Given the description of an element on the screen output the (x, y) to click on. 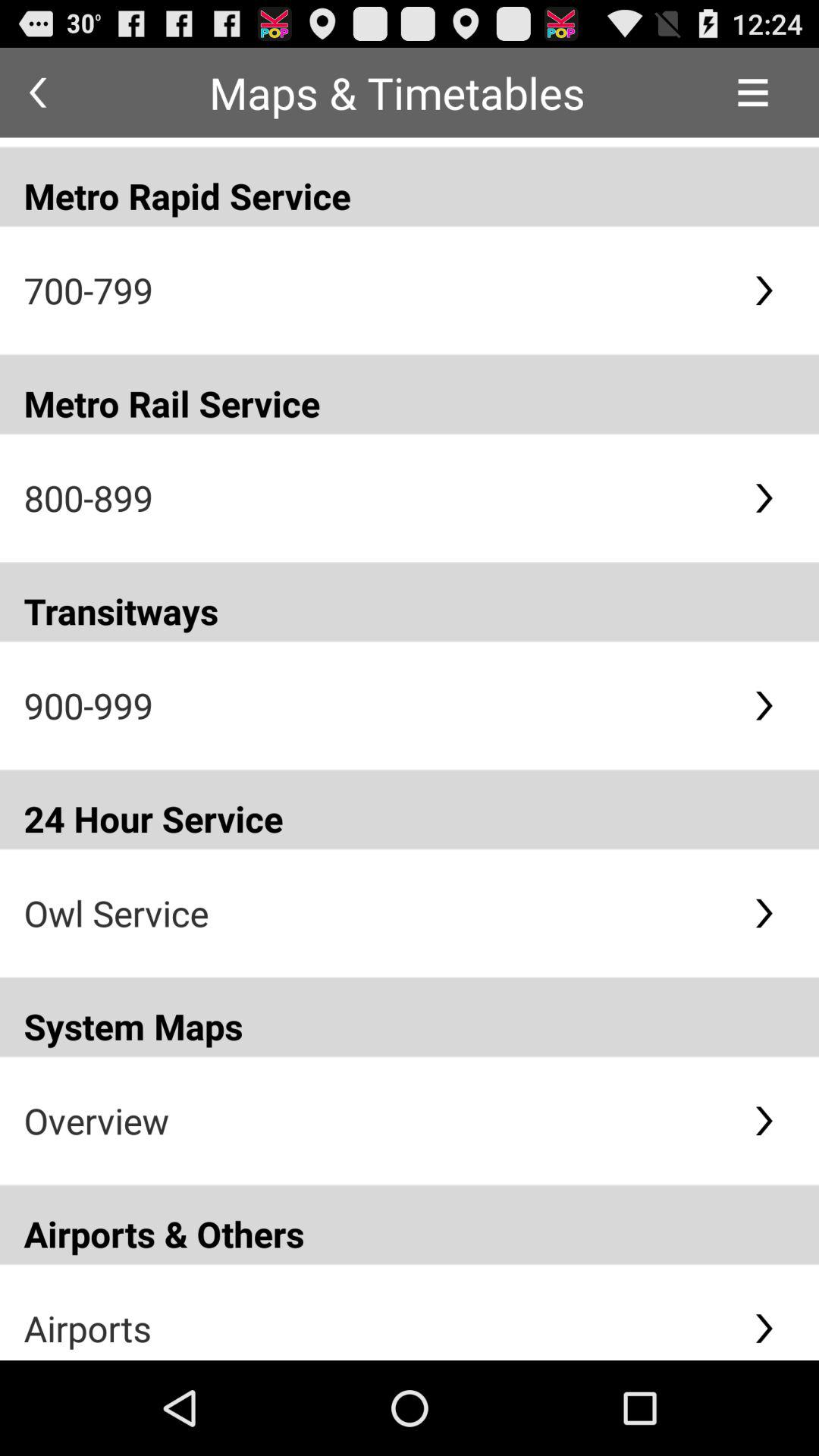
scroll until the 900-999 icon (376, 705)
